Given the description of an element on the screen output the (x, y) to click on. 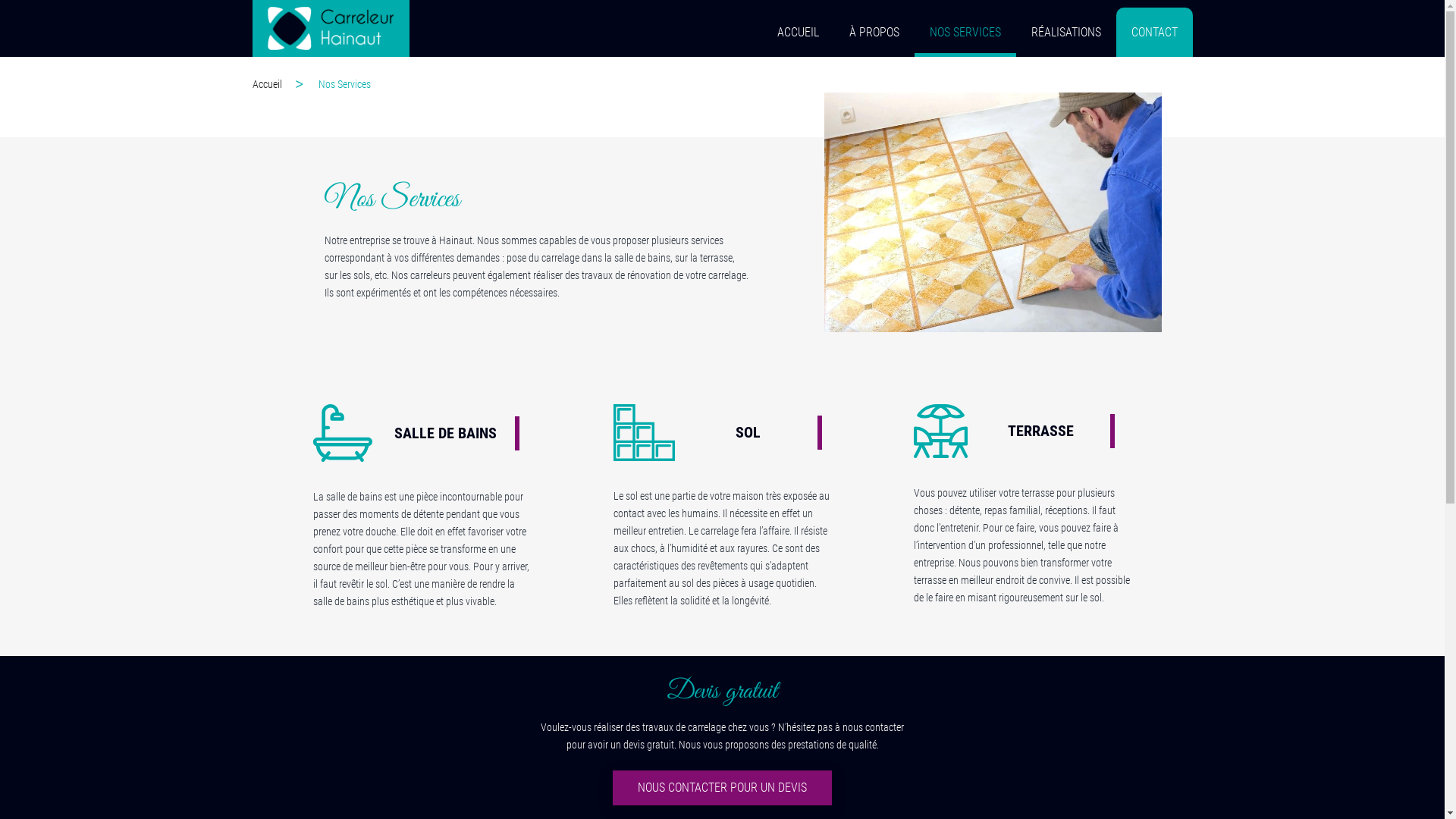
Accueil Element type: text (283, 84)
CONTACT Element type: text (1154, 31)
NOS SERVICES Element type: text (965, 31)
Carreleur Element type: hover (329, 28)
NOUS CONTACTER POUR UN DEVIS Element type: text (721, 787)
ACCUEIL Element type: text (797, 31)
